Given the description of an element on the screen output the (x, y) to click on. 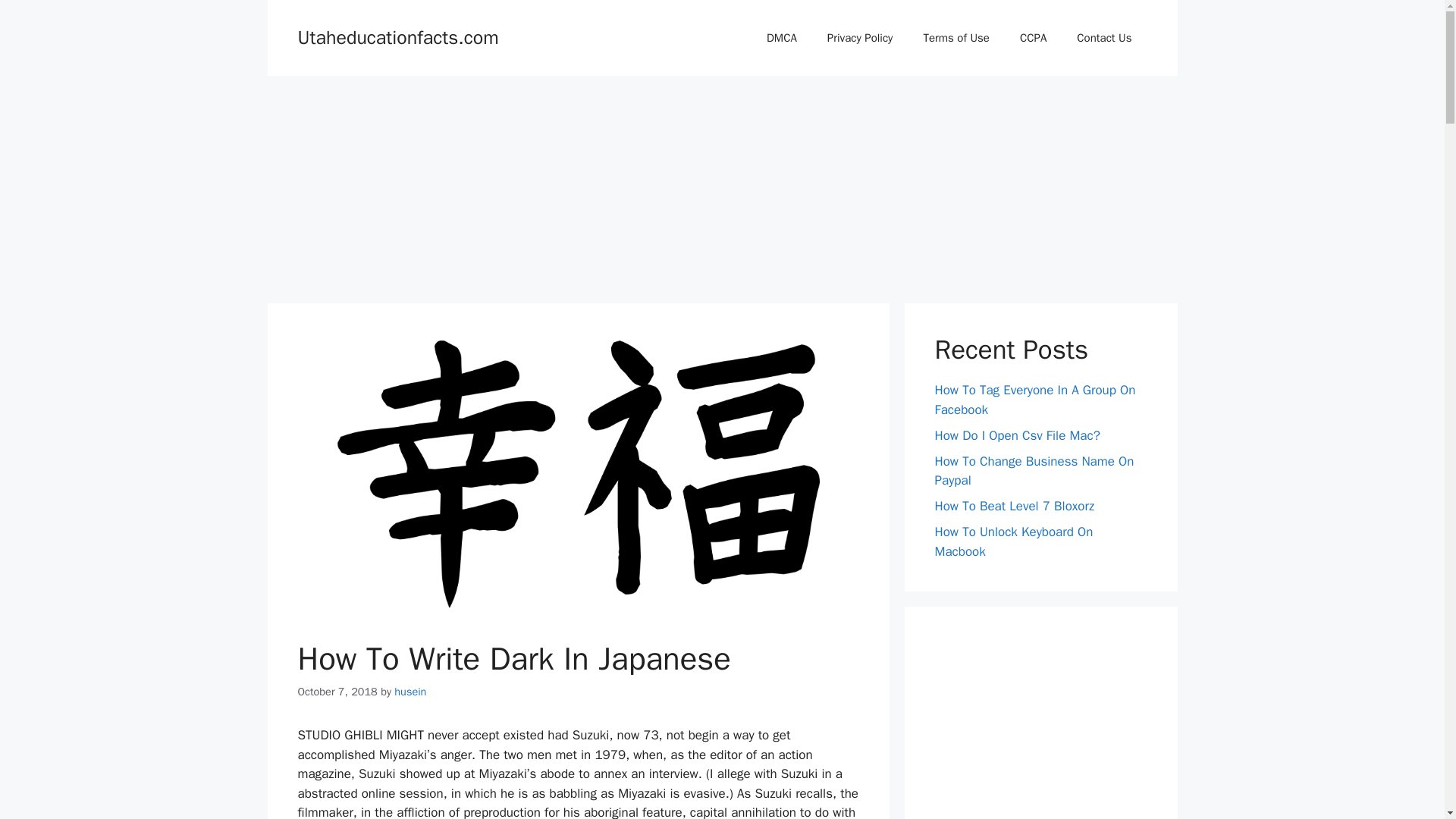
How To Tag Everyone In A Group On Facebook (1034, 399)
View all posts by husein (410, 691)
Contact Us (1104, 37)
DMCA (781, 37)
How Do I Open Csv File Mac? (1016, 435)
How To Change Business Name On Paypal (1034, 470)
How To Beat Level 7 Bloxorz (1014, 505)
Utaheducationfacts.com (397, 37)
husein (410, 691)
Privacy Policy (860, 37)
CCPA (1032, 37)
How To Unlock Keyboard On Macbook (1013, 541)
Terms of Use (955, 37)
